Given the description of an element on the screen output the (x, y) to click on. 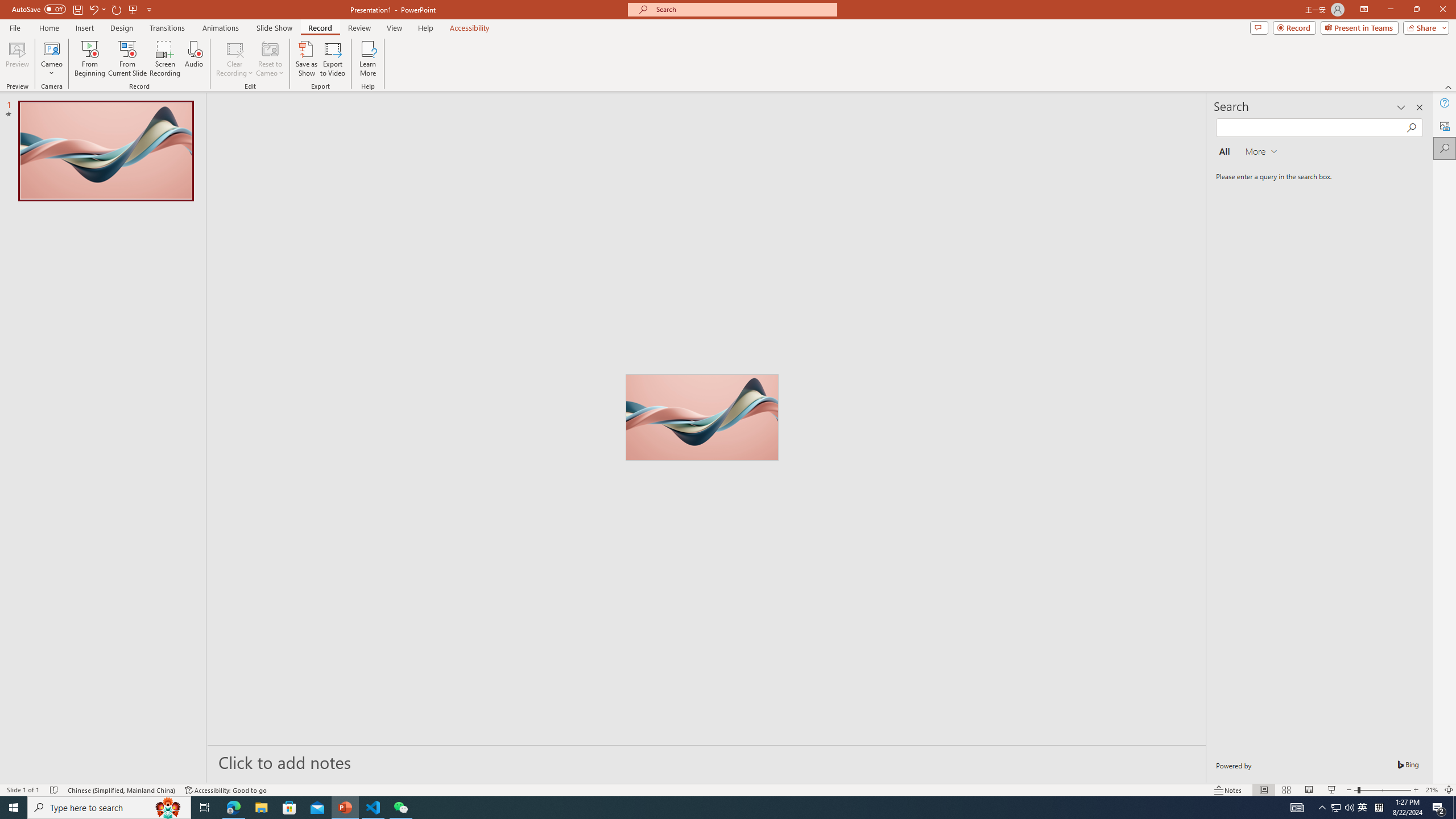
From Beginning... (89, 58)
Clear Recording (234, 58)
